Given the description of an element on the screen output the (x, y) to click on. 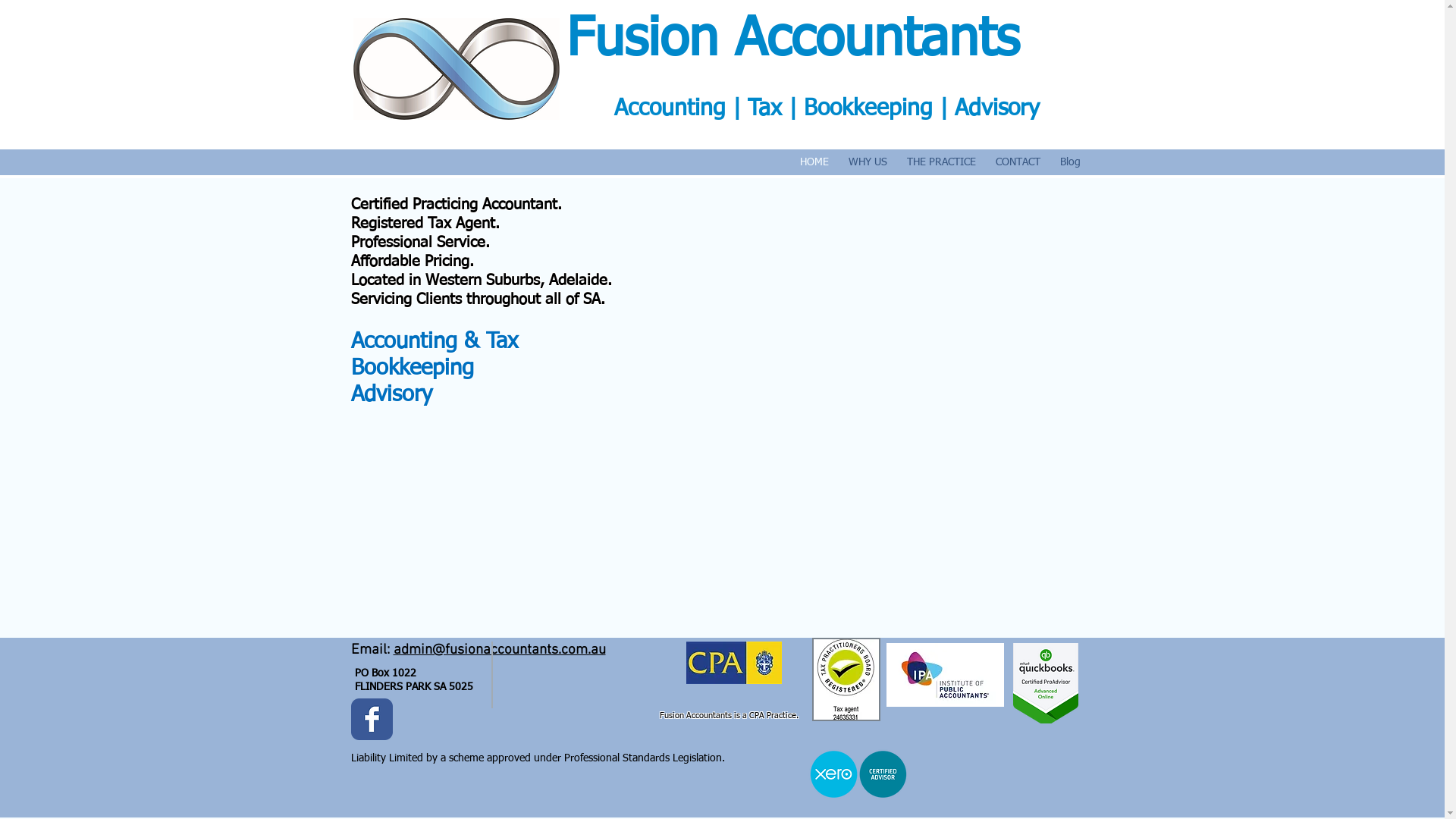
Blog Element type: text (1069, 161)
admin@fusionaccountants.com.au Element type: text (498, 649)
HOME Element type: text (814, 161)
THE PRACTICE Element type: text (940, 161)
CONTACT Element type: text (1017, 161)
WHY US Element type: text (867, 161)
